Given the description of an element on the screen output the (x, y) to click on. 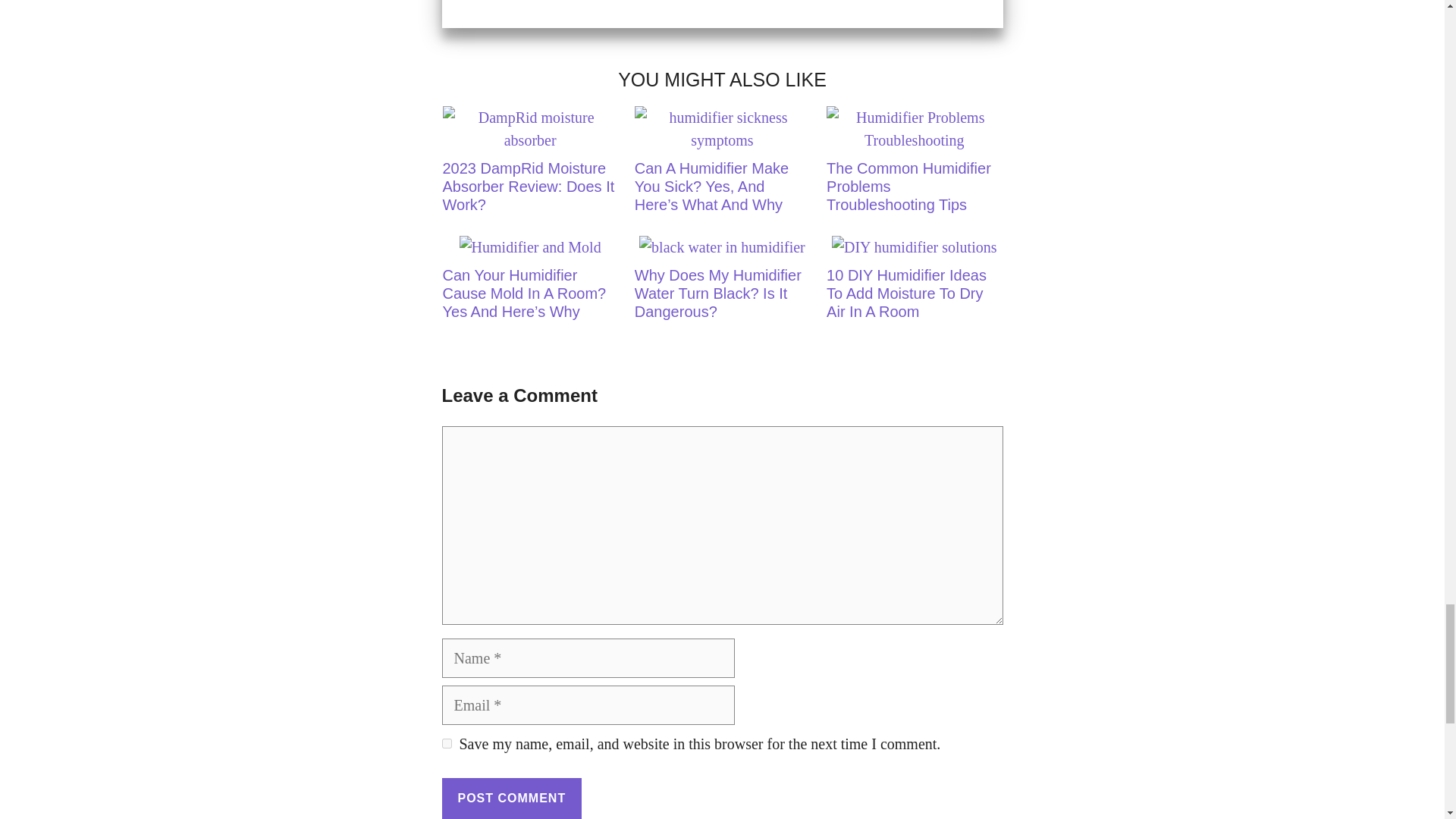
yes (446, 743)
10 DIY Humidifier Ideas To Add Moisture To Dry Air In A Room (906, 283)
Post Comment (510, 798)
The Common Humidifier Problems Troubleshooting Tips (906, 166)
2023 DampRid Moisture Absorber Review: Does It Work? (521, 166)
Why Does My Humidifier Water Turn Black? Is It Dangerous? (714, 283)
